Given the description of an element on the screen output the (x, y) to click on. 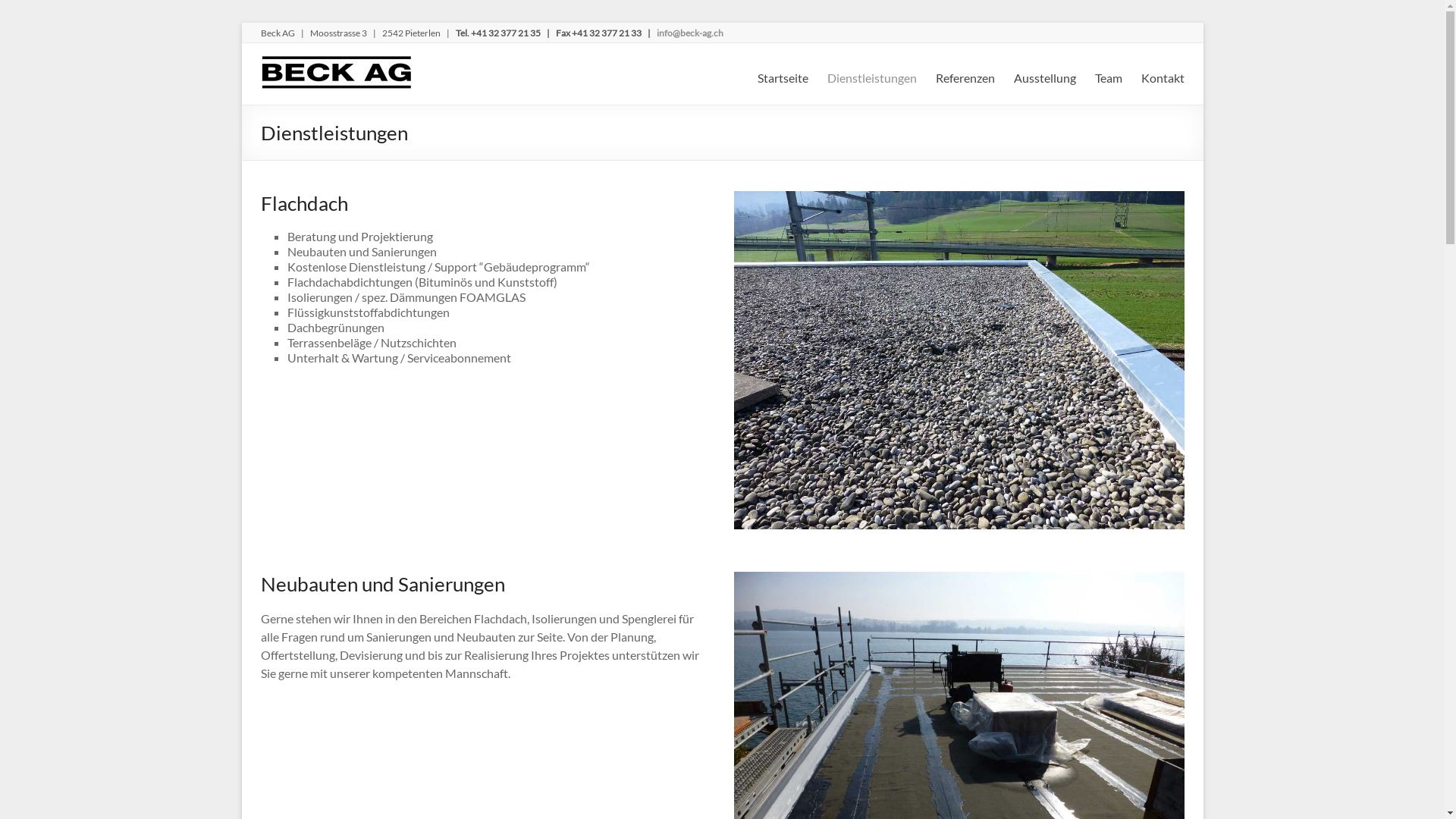
Team Element type: text (1108, 75)
Kontakt Element type: text (1161, 75)
Beck AG Element type: hover (336, 61)
info@beck-ag.ch Element type: text (689, 32)
Ausstellung Element type: text (1044, 75)
Referenzen Element type: text (964, 75)
Startseite Element type: text (781, 75)
Dienstleistungen Element type: text (871, 75)
